Given the description of an element on the screen output the (x, y) to click on. 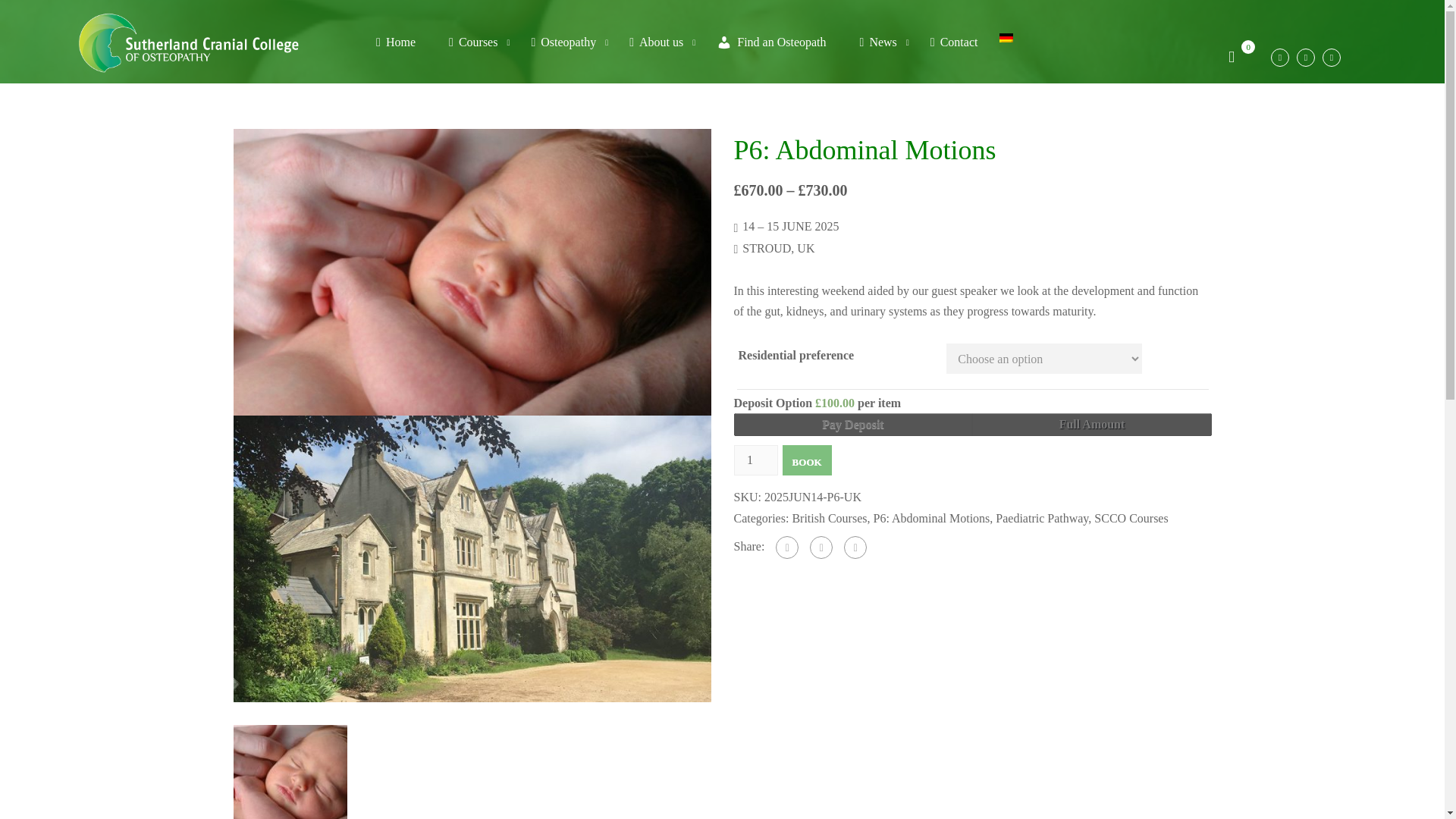
1 (755, 460)
Twitter (820, 547)
Pinterest (855, 547)
Hawkwood College (471, 557)
Qty (755, 460)
Facebook (786, 547)
